Given the description of an element on the screen output the (x, y) to click on. 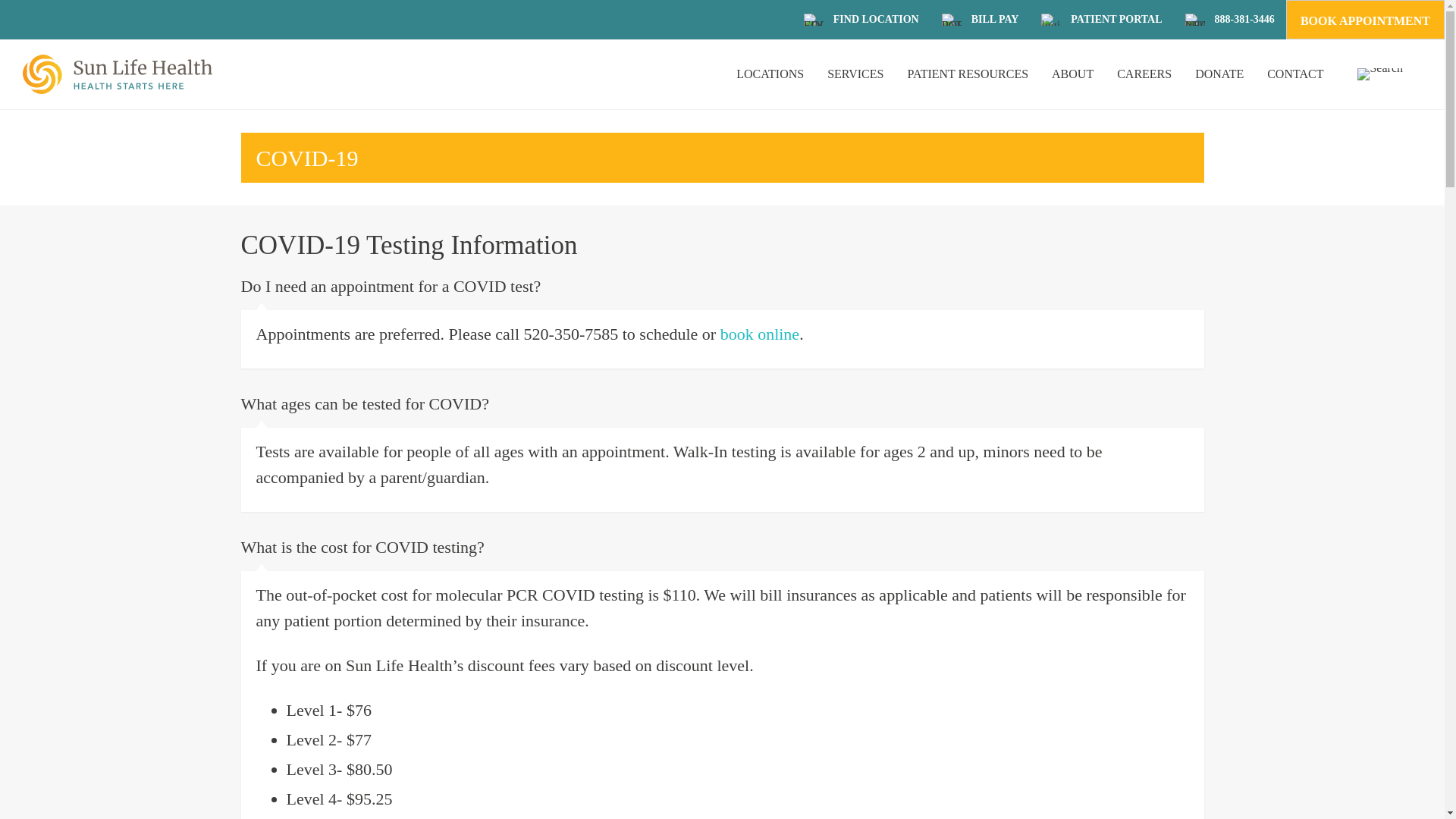
book online (759, 333)
Our Services (855, 74)
CAREERS (1144, 74)
CONTACT (1294, 74)
PATIENT RESOURCES (967, 74)
FIND LOCATION (813, 19)
SERVICES (855, 74)
PATIENT PORTAL (951, 19)
FIND LOCATION (875, 19)
BILL PAY (995, 19)
Locations (769, 74)
FIND LOCATION (875, 19)
Patient Resources (967, 74)
LOCATIONS (769, 74)
ABOUT (1072, 74)
